Given the description of an element on the screen output the (x, y) to click on. 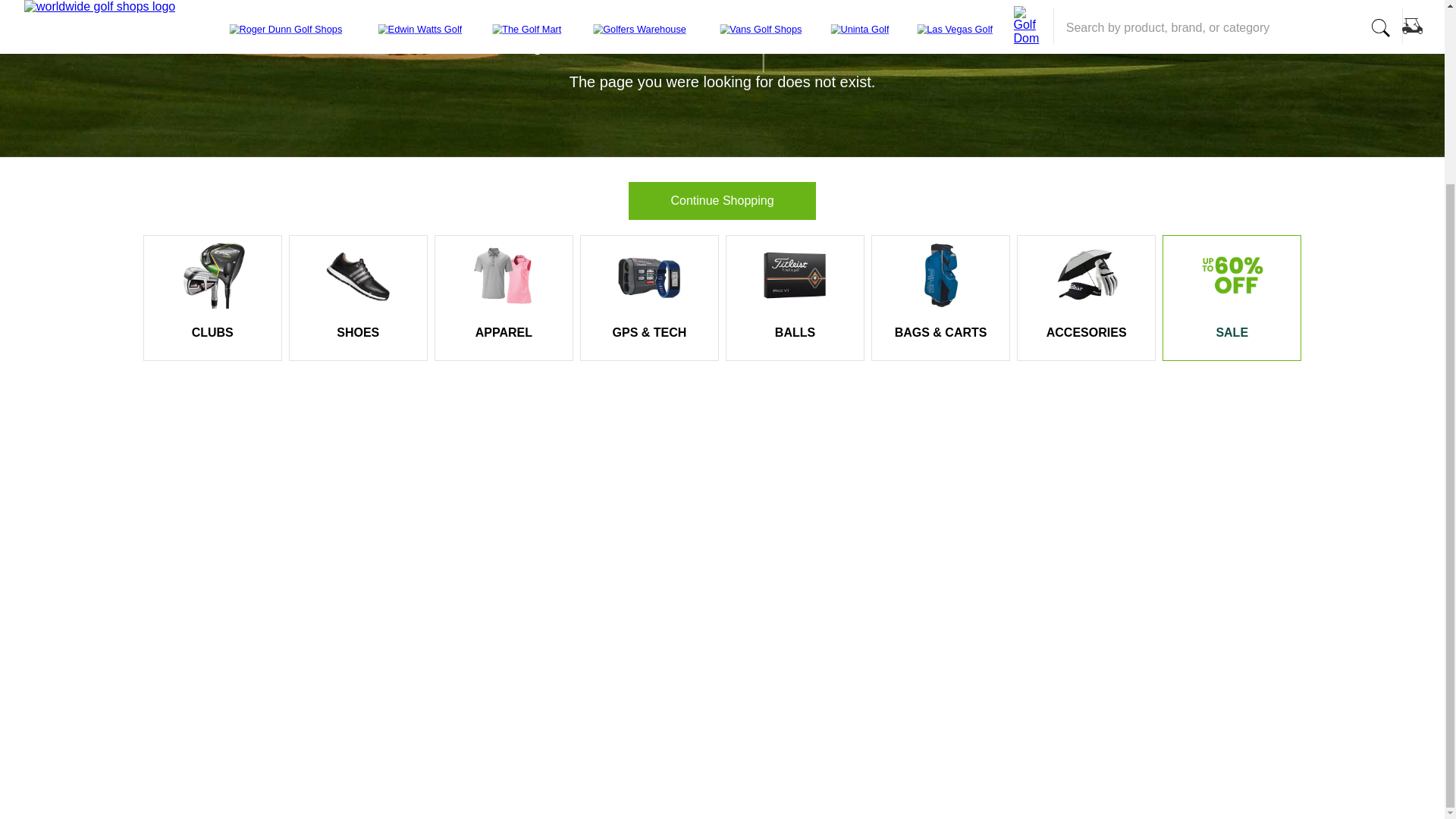
Continue Shopping (720, 200)
APPAREL (504, 332)
SHOES (357, 332)
CLUBS (212, 332)
BALLS (794, 332)
